Given the description of an element on the screen output the (x, y) to click on. 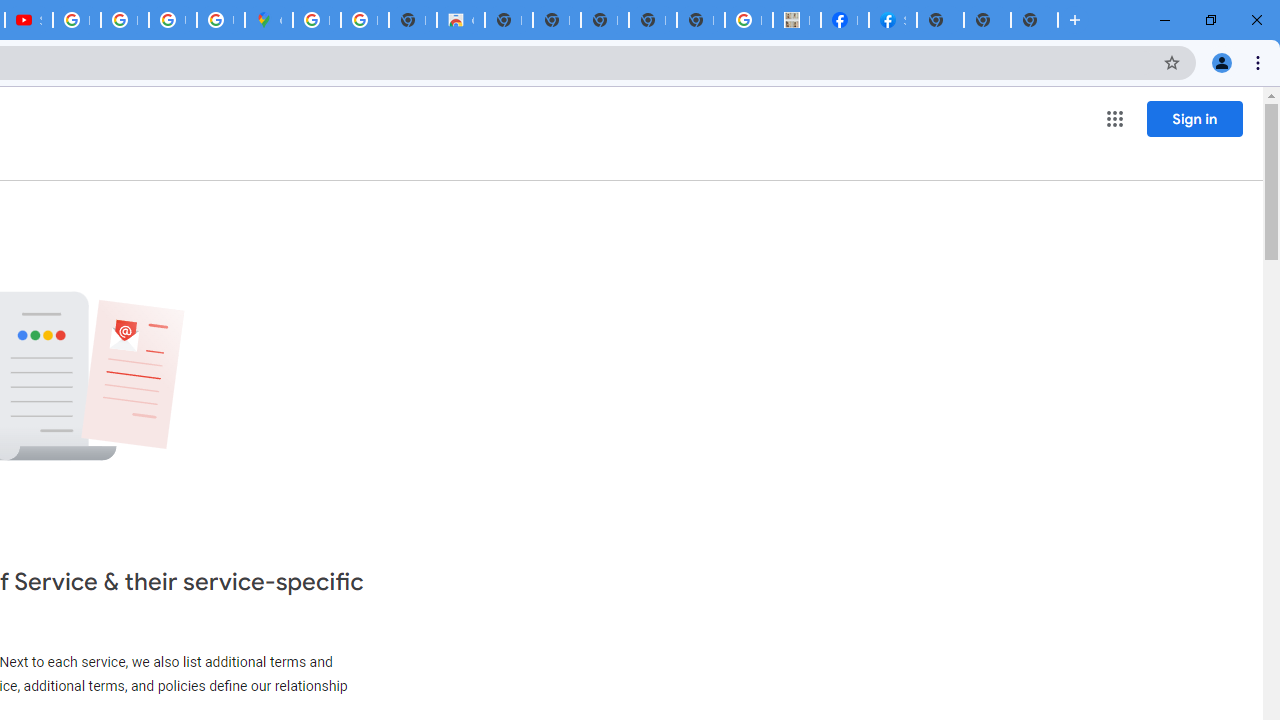
New Tab (939, 20)
MILEY CYRUS. (796, 20)
Miley Cyrus | Facebook (844, 20)
How Chrome protects your passwords - Google Chrome Help (76, 20)
New Tab (1034, 20)
